Given the description of an element on the screen output the (x, y) to click on. 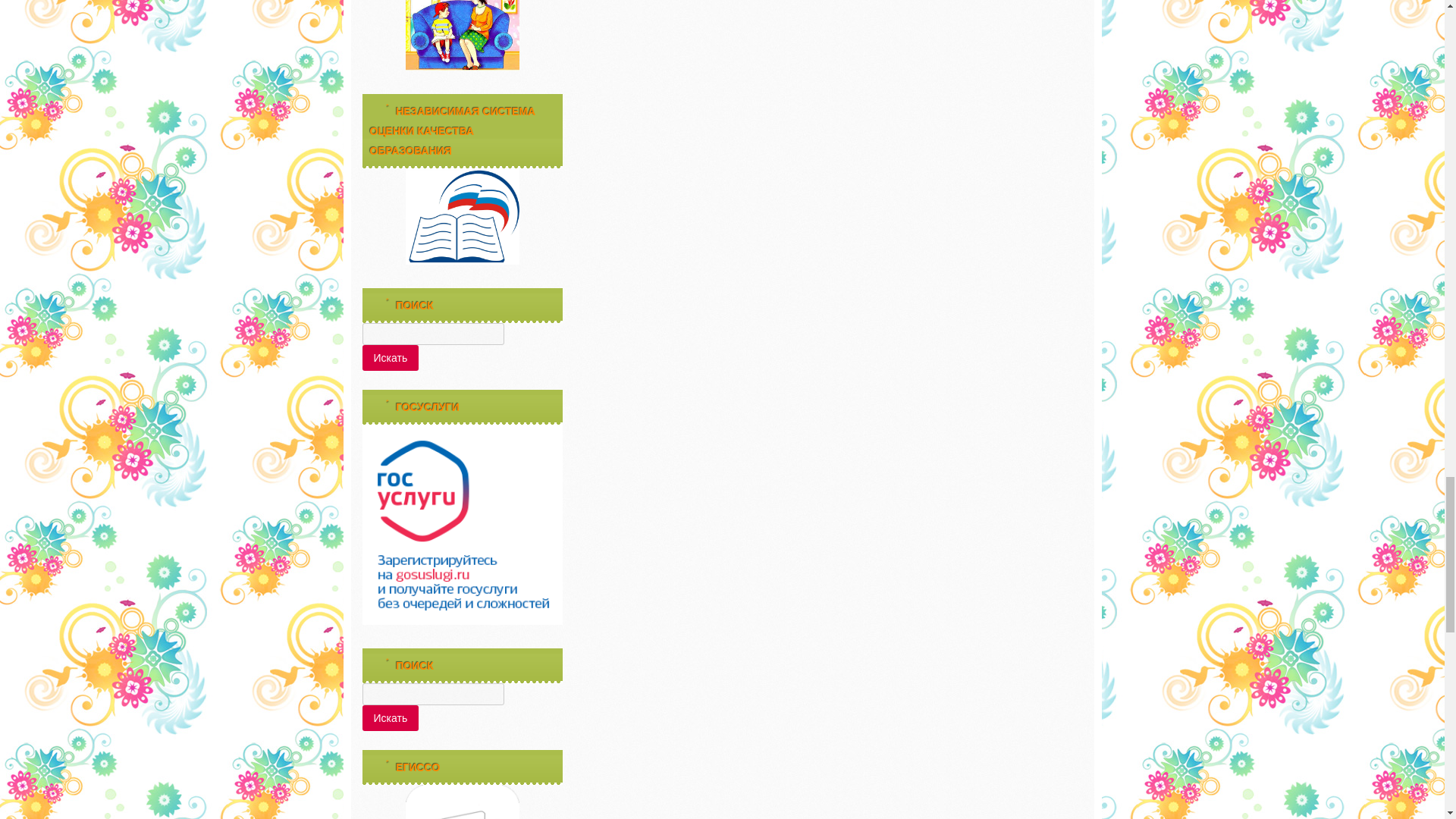
Search for: (432, 333)
Search for: (432, 694)
